Given the description of an element on the screen output the (x, y) to click on. 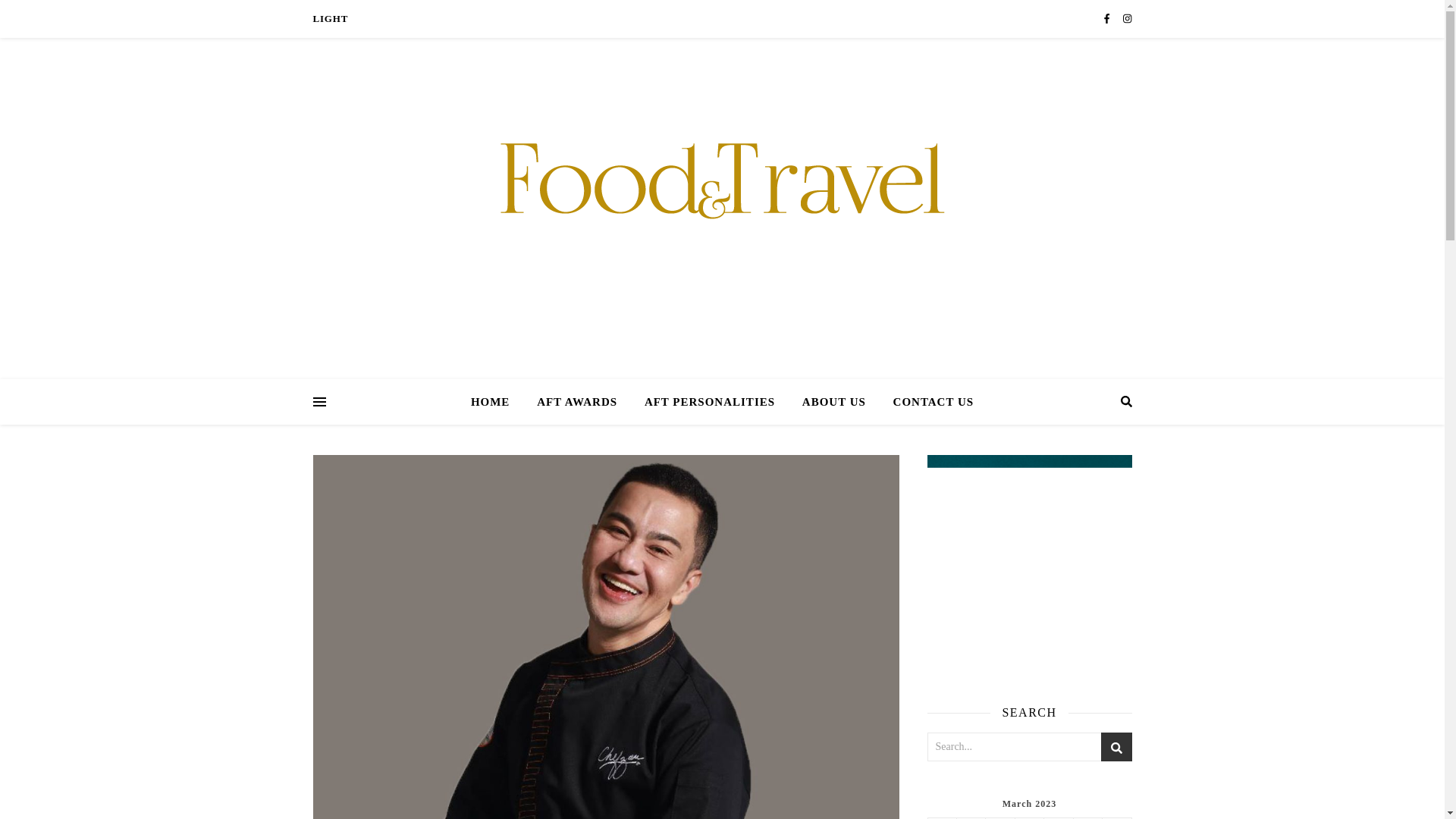
HOME (496, 402)
AFT AWARDS (576, 402)
qw (330, 18)
CONTACT US (927, 402)
